Given the description of an element on the screen output the (x, y) to click on. 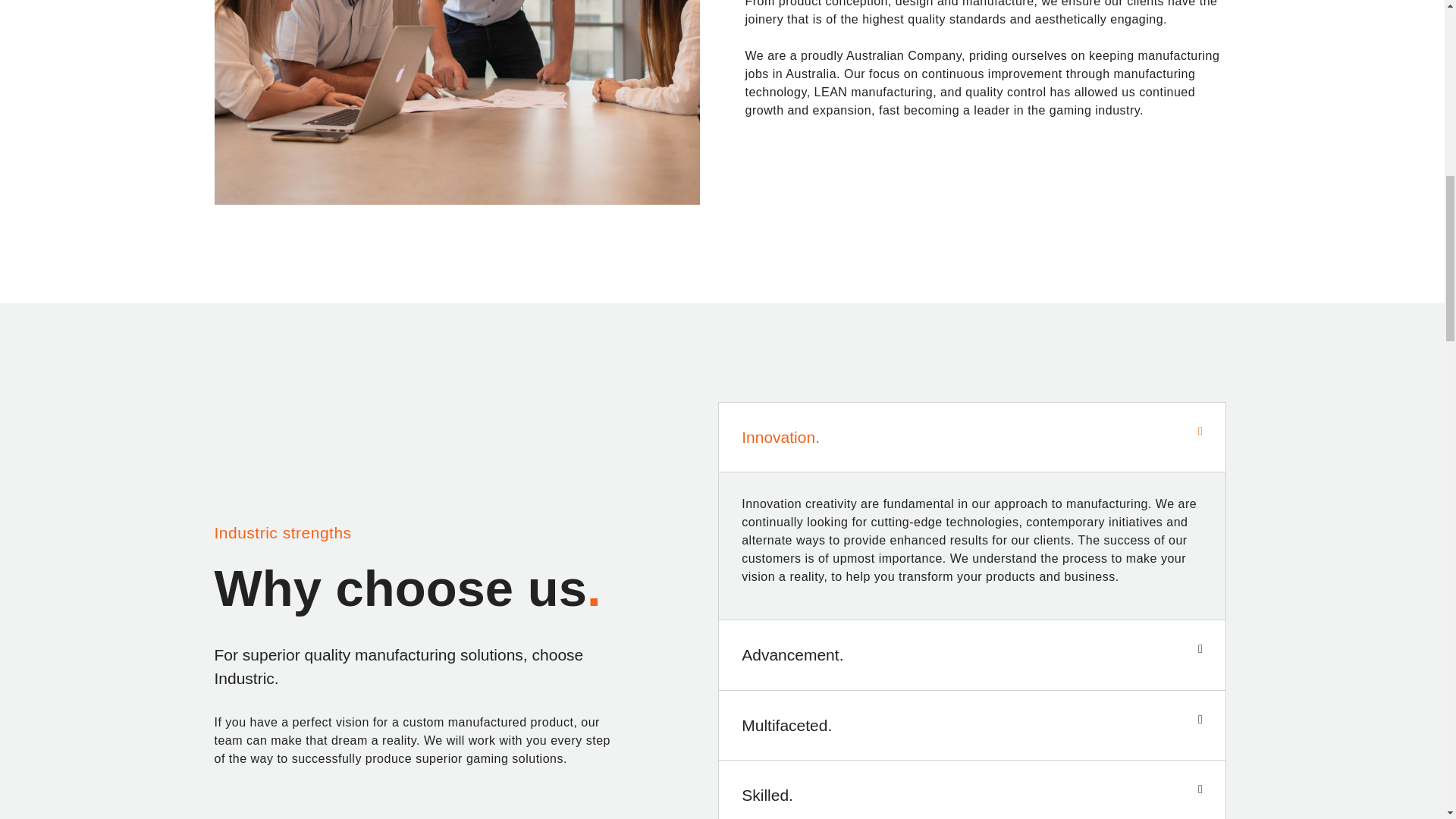
Innovation. (780, 436)
Skilled. (767, 794)
Advancement. (792, 654)
Multifaceted. (786, 724)
